Given the description of an element on the screen output the (x, y) to click on. 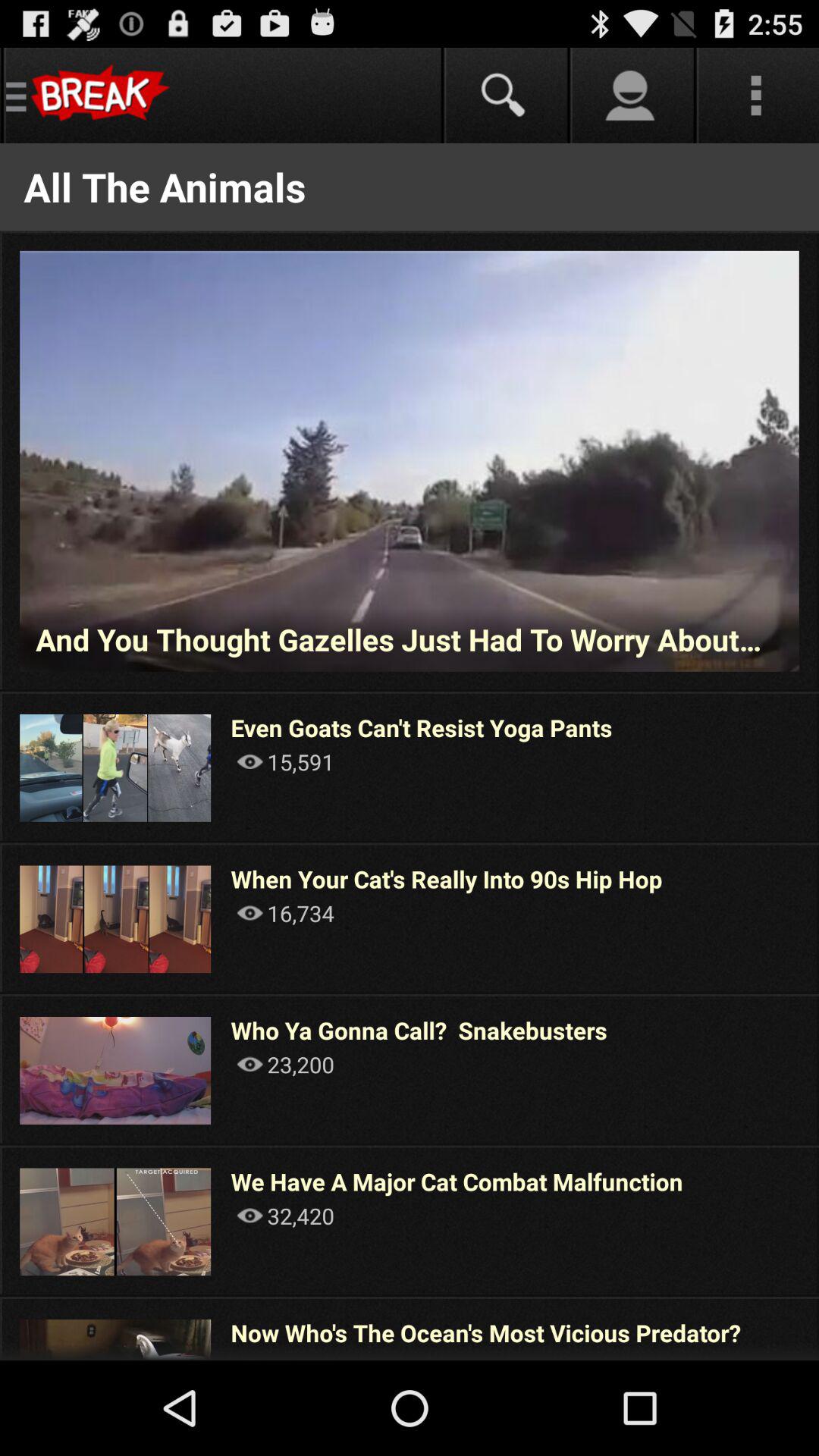
choose the icon below now who s item (285, 1355)
